Given the description of an element on the screen output the (x, y) to click on. 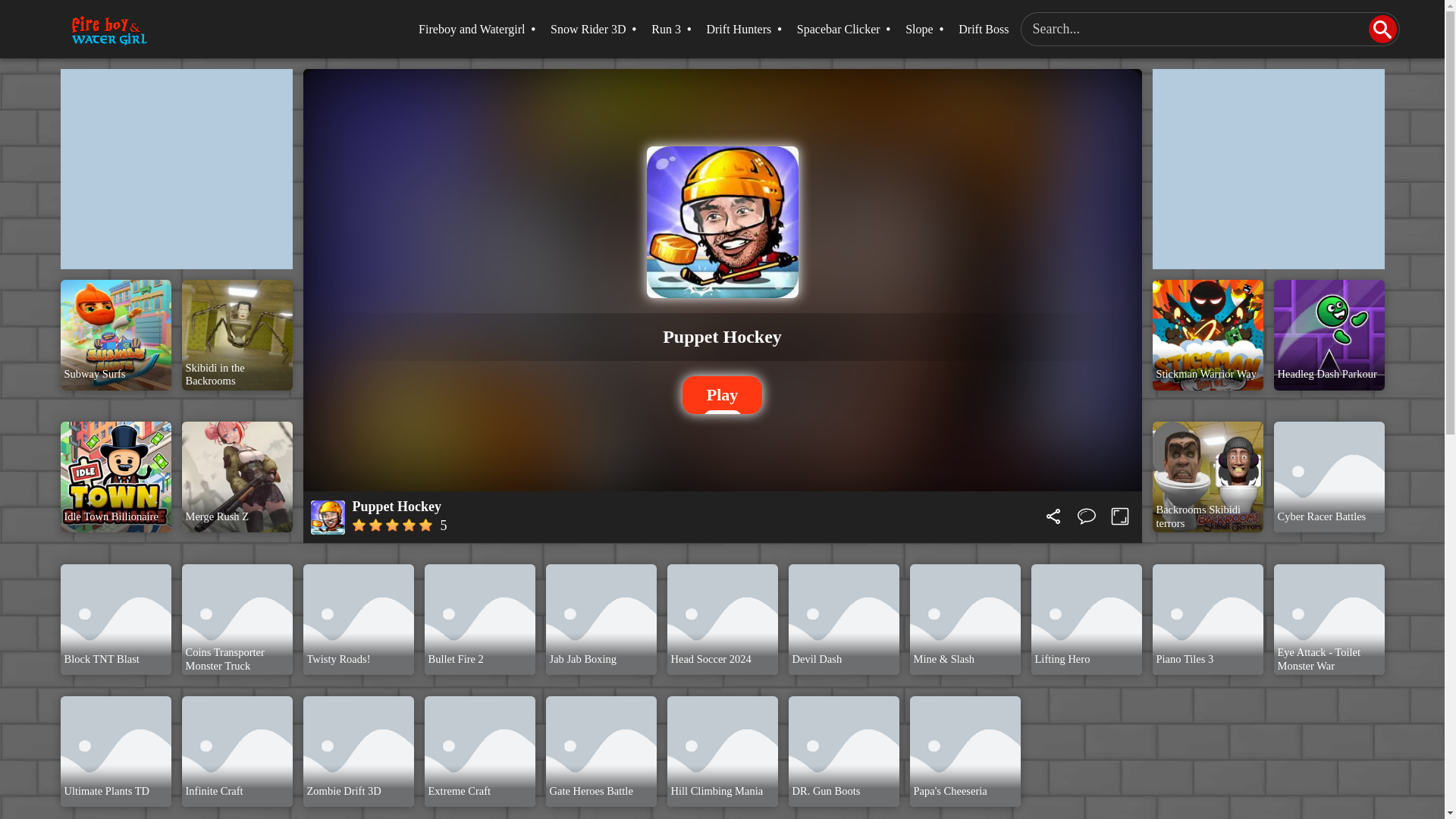
Drift Hunters (738, 28)
Spacebar Clicker (838, 28)
Drift Boss (983, 28)
Fireboy and Watergirl (471, 28)
Fireboy And Watergirl (109, 30)
Snow Rider 3D (588, 28)
Play (722, 394)
